Given the description of an element on the screen output the (x, y) to click on. 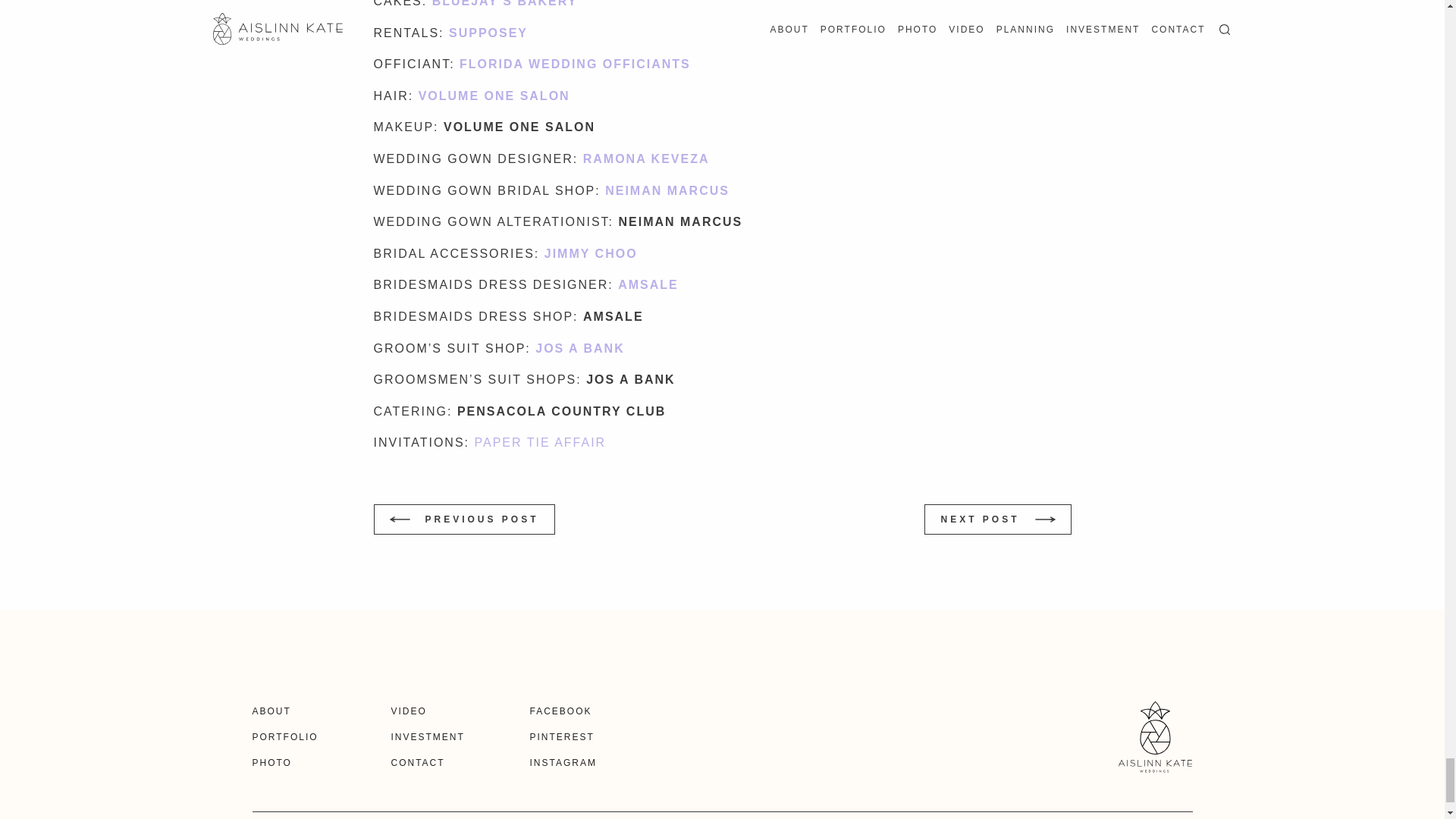
FLORIDA WEDDING OFFICIANTS (575, 63)
PREVIOUS POST (463, 519)
JOS A BANK (579, 348)
PORTFOLIO (284, 737)
VOLUME ONE SALON (494, 95)
FACEBOOK (560, 710)
SUPPOSEY (487, 32)
JIMMY CHOO  (593, 253)
PHOTO (271, 762)
ABOUT (270, 710)
AMSALE (647, 284)
NEXT POST (997, 519)
PINTEREST (561, 737)
RAMONA KEVEZA  (648, 158)
INVESTMENT (427, 737)
